Given the description of an element on the screen output the (x, y) to click on. 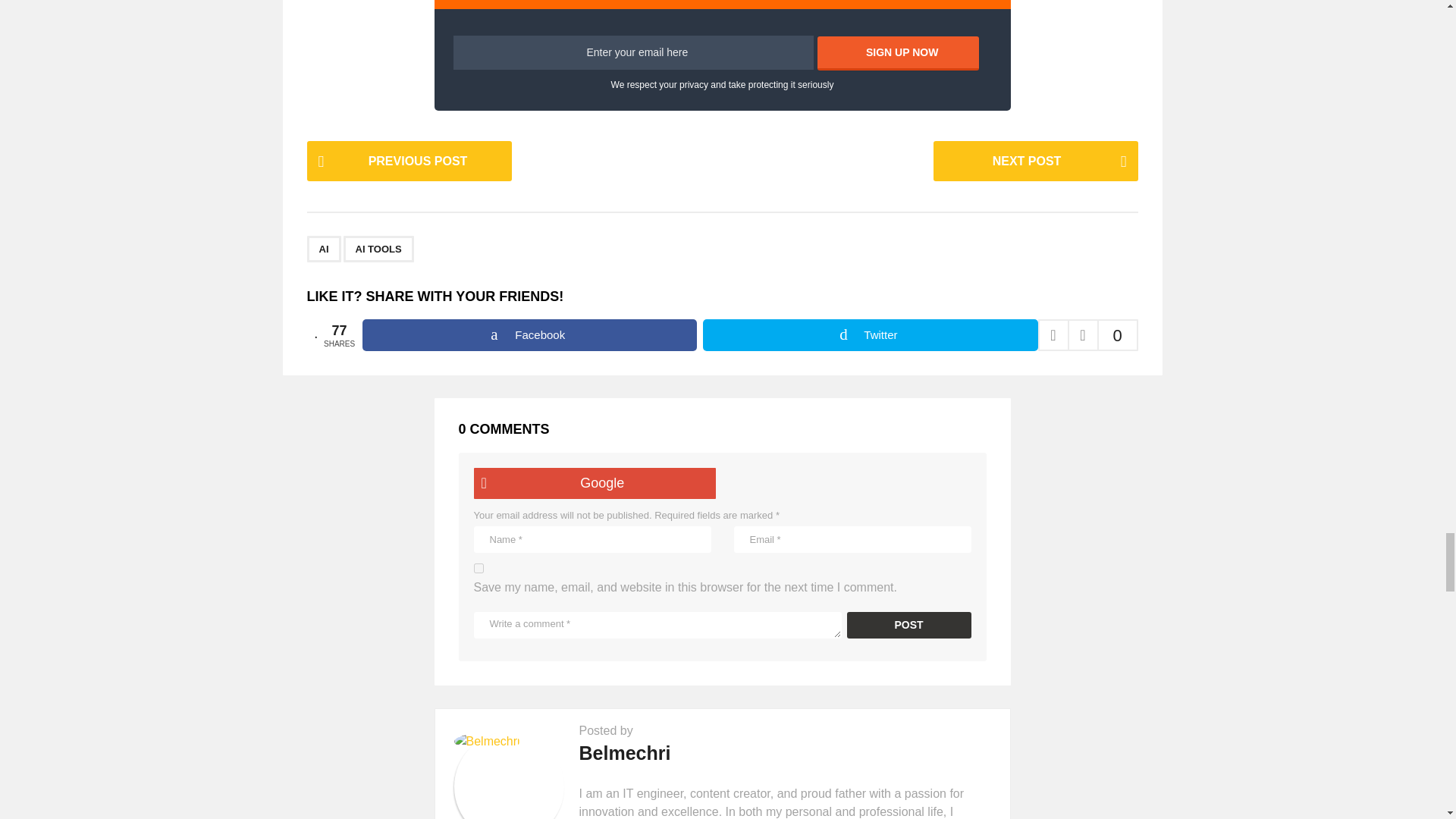
Post (908, 624)
yes (478, 568)
Sign Up Now (897, 53)
